Given the description of an element on the screen output the (x, y) to click on. 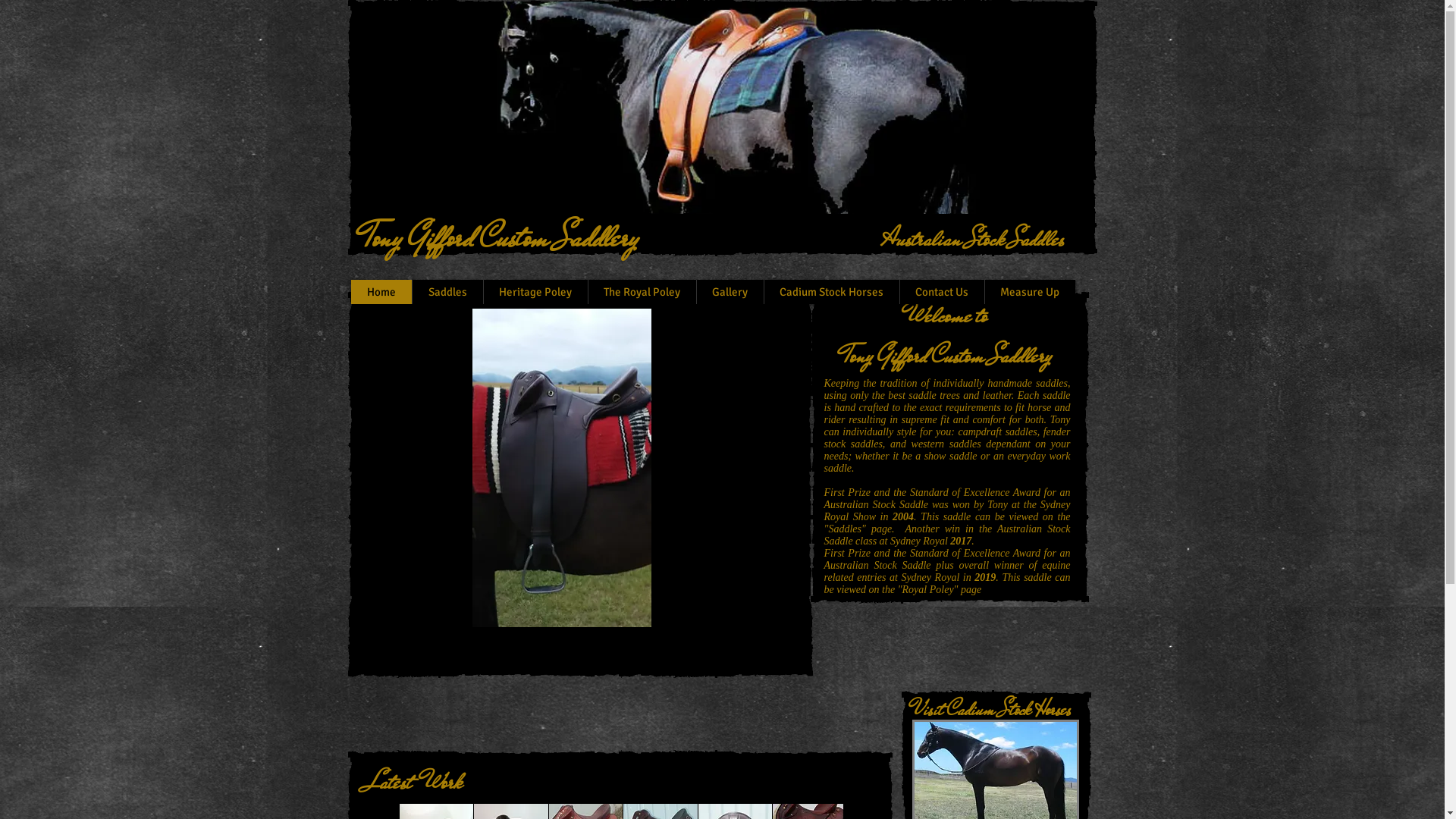
Cadium Stock Horses Element type: text (830, 291)
Heritage Poley Element type: text (534, 291)
Contact Us Element type: text (941, 291)
Home Element type: text (380, 291)
The Royal Poley Element type: text (640, 291)
Gallery Element type: text (729, 291)
Measure Up Element type: text (1029, 291)
Cadiums Black Haze Element type: hover (716, 107)
Saddles Element type: text (446, 291)
